Given the description of an element on the screen output the (x, y) to click on. 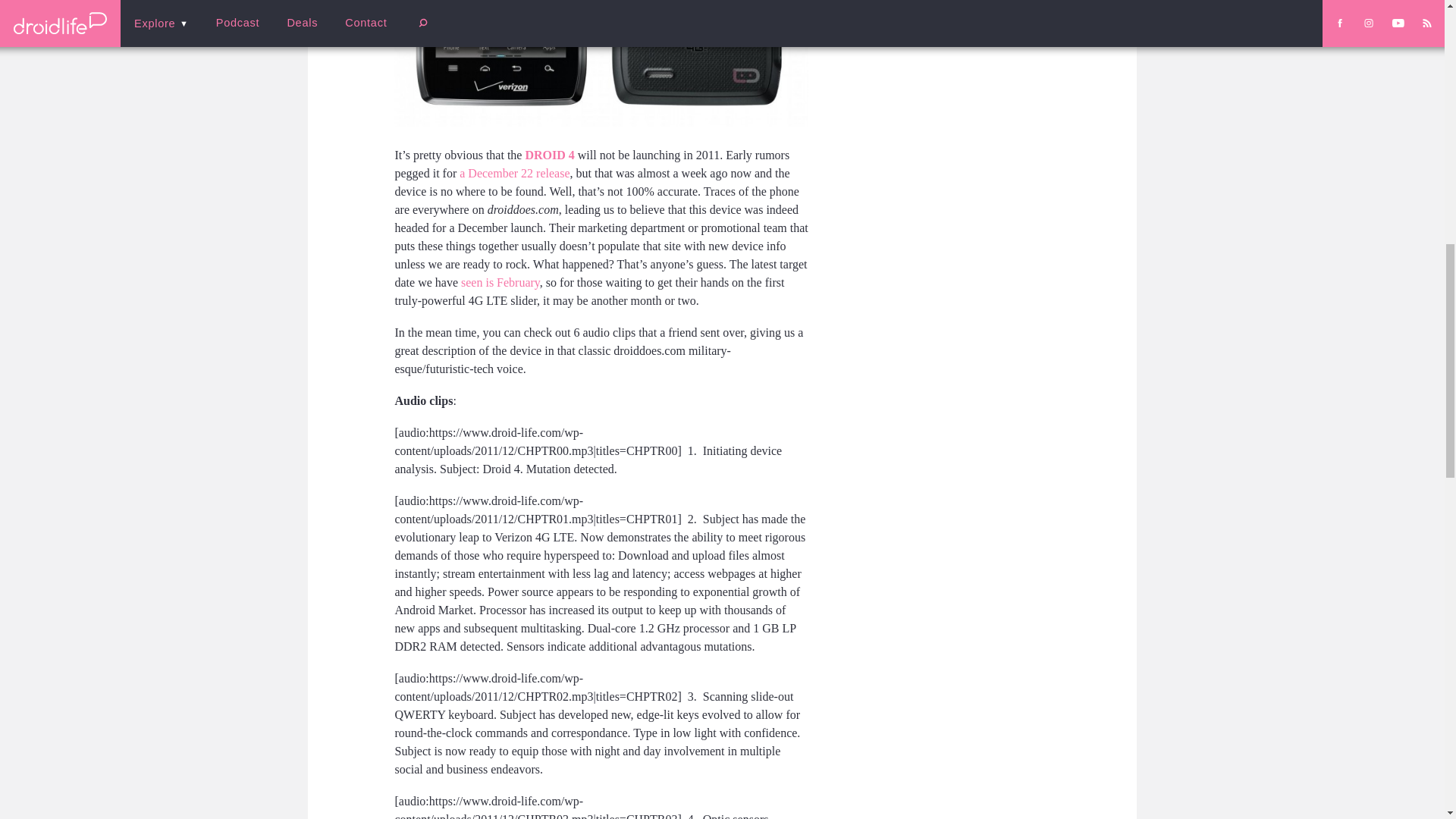
droid4 official (601, 63)
